Given the description of an element on the screen output the (x, y) to click on. 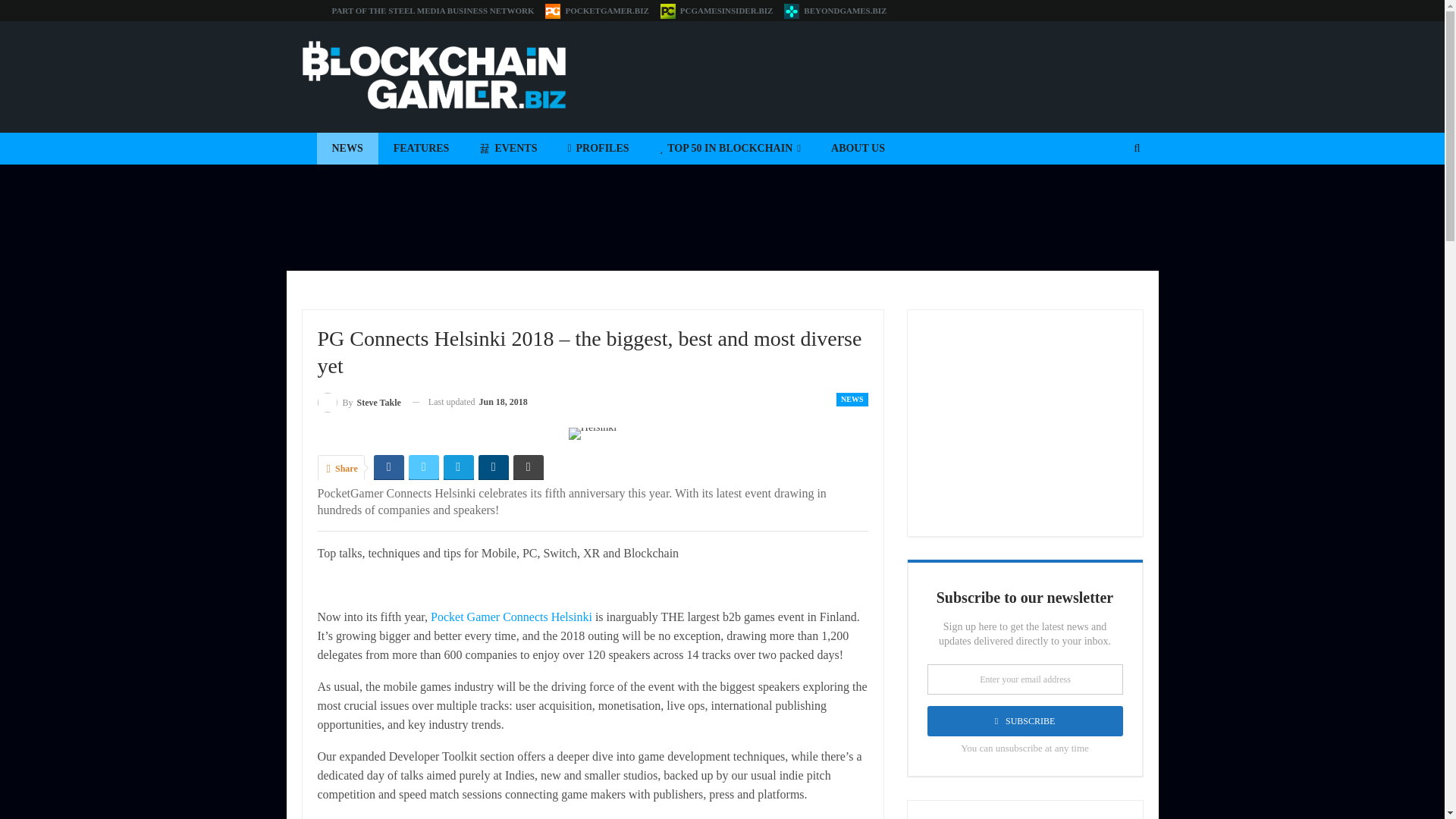
Pocket Gamer Connects Helsinki (511, 616)
PART OF THE STEEL MEDIA BUSINESS NETWORK (432, 10)
NEWS (347, 148)
FEATURES (421, 148)
By Steve Takle (358, 402)
POCKETGAMER.BIZ (595, 10)
BEYONDGAMES.BIZ (835, 10)
EVENTS (507, 148)
PCGAMESINSIDER.BIZ (717, 10)
Browse Author Articles (358, 402)
